Given the description of an element on the screen output the (x, y) to click on. 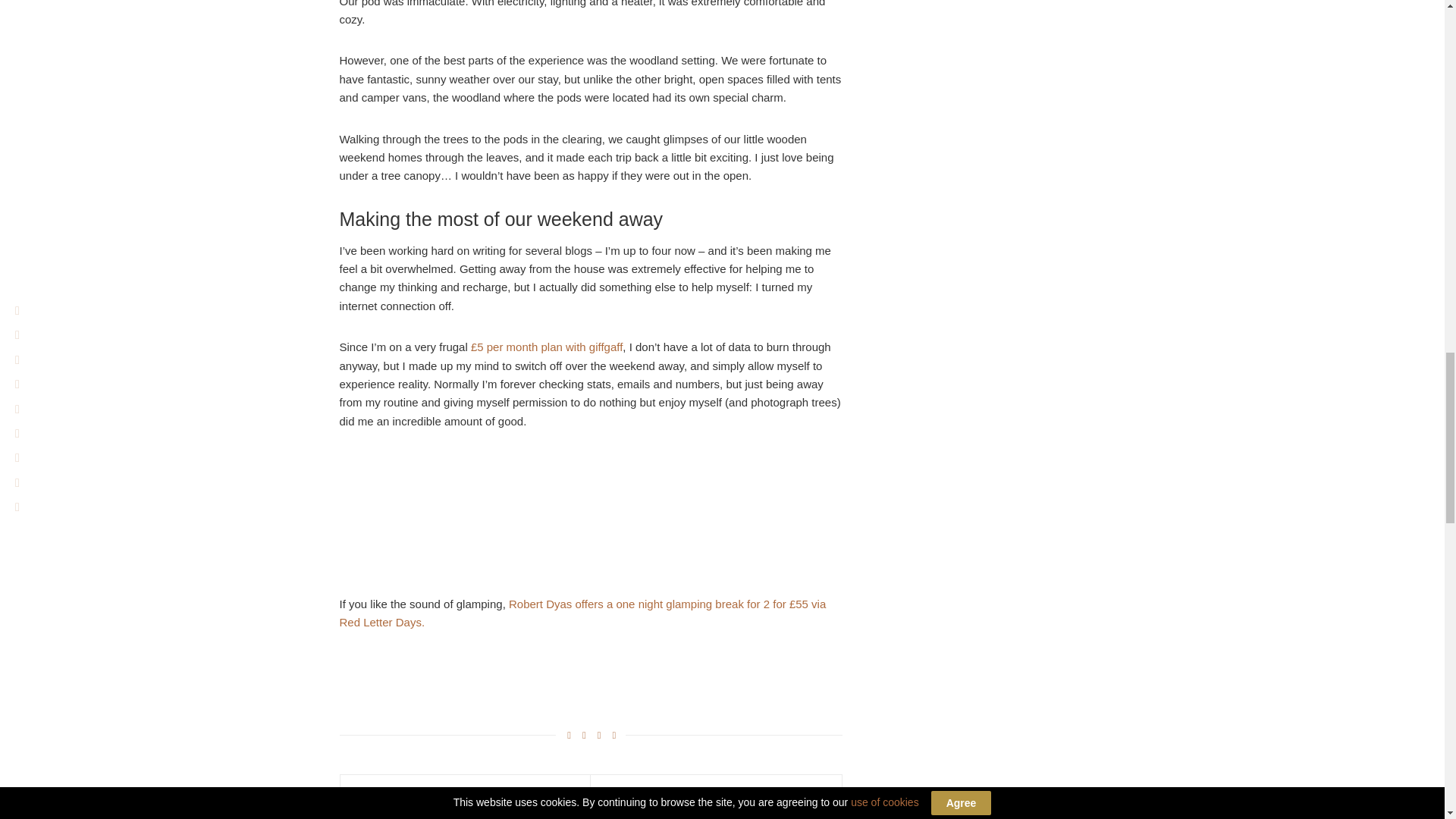
Previous Post (465, 791)
Next Post (716, 791)
